Given the description of an element on the screen output the (x, y) to click on. 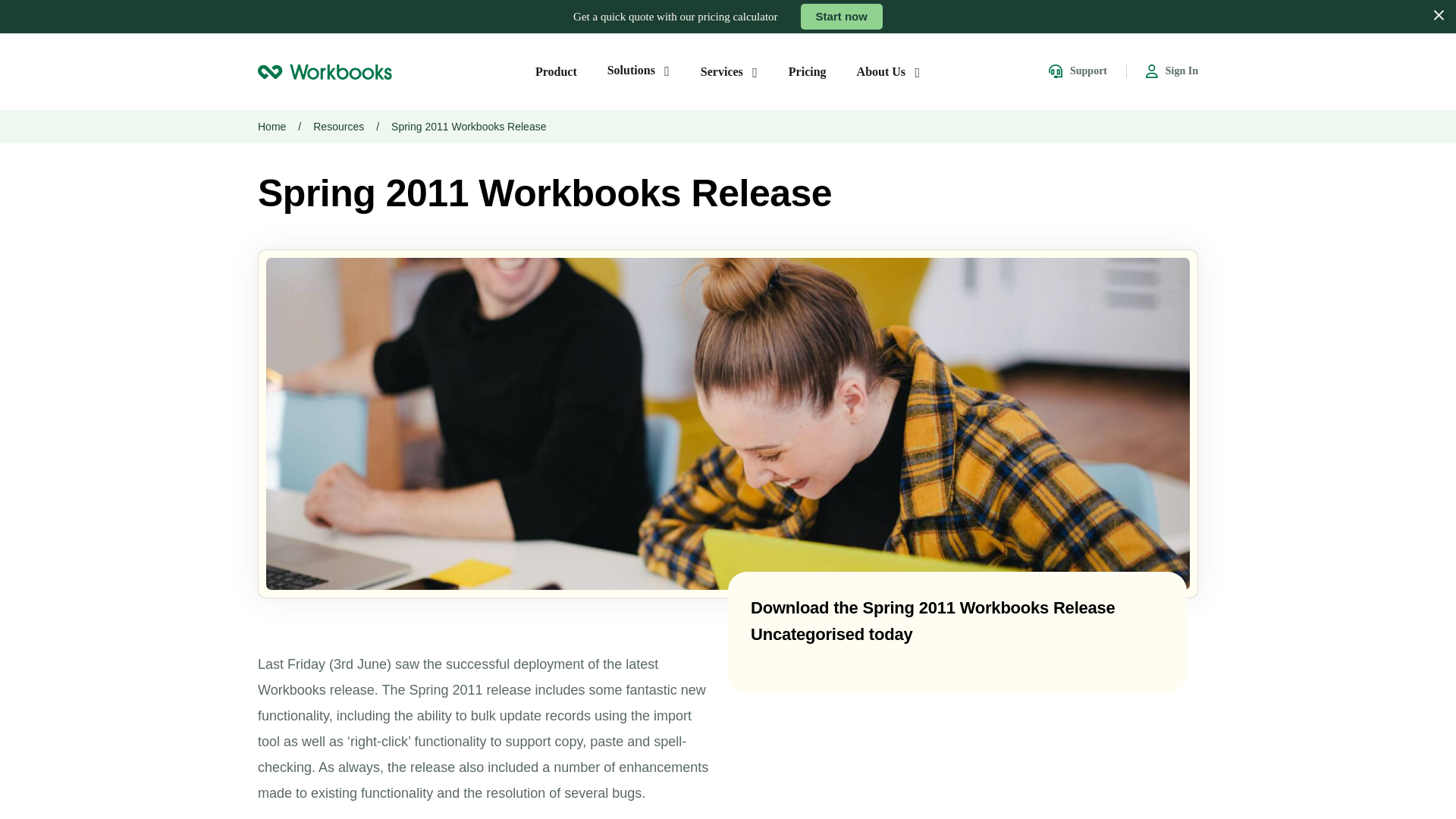
Pricing (808, 71)
Start now (841, 16)
Sign In (1171, 70)
Product (555, 71)
About Us (888, 71)
Solutions (638, 69)
Services (729, 71)
Support (1077, 70)
